Given the description of an element on the screen output the (x, y) to click on. 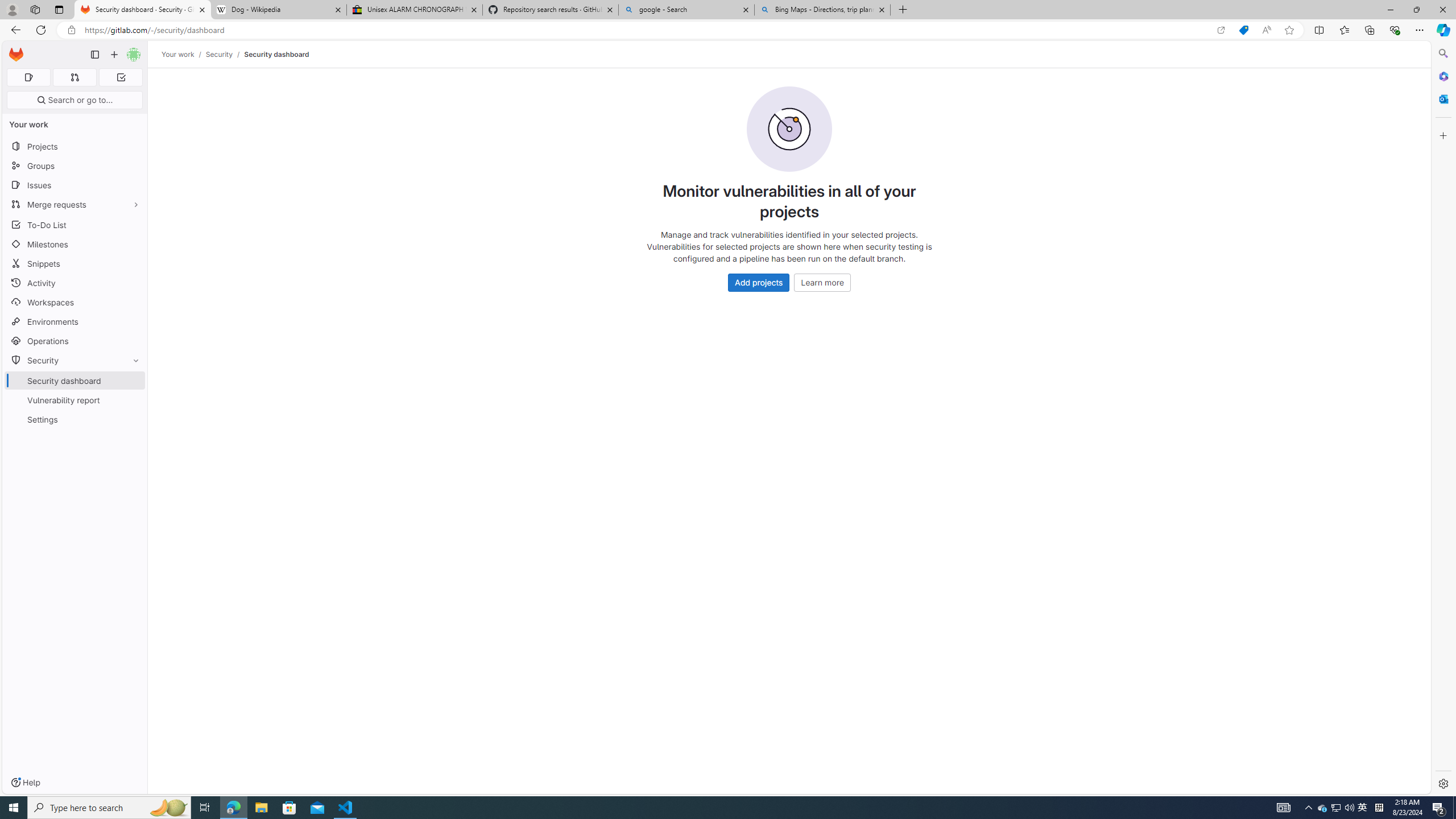
Your work (178, 53)
Assigned issues 0 (28, 76)
Add projects (759, 282)
Activity (74, 282)
Create new... (113, 54)
